Given the description of an element on the screen output the (x, y) to click on. 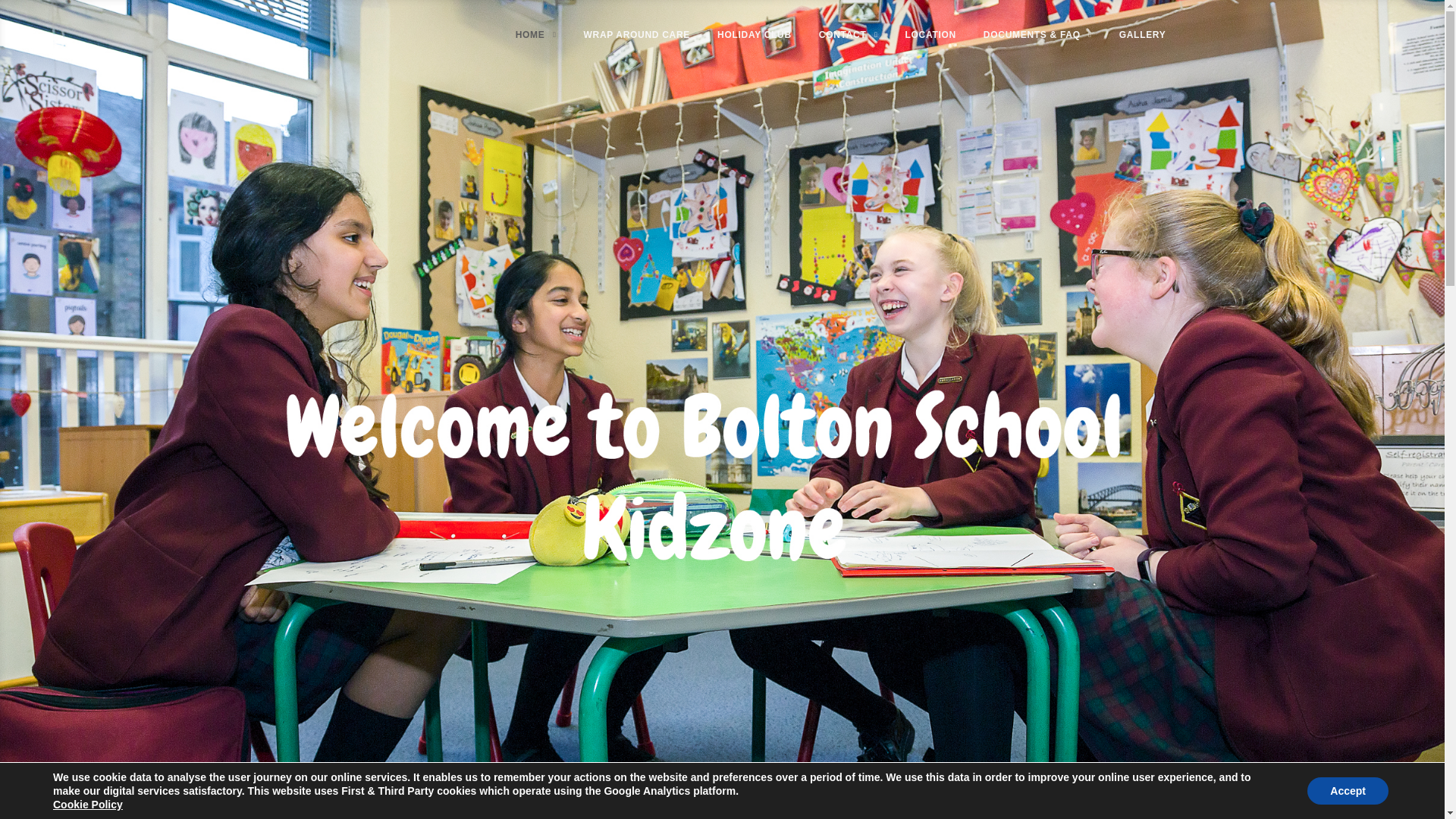
GALLERY (1142, 34)
LOCATION (929, 34)
HOLIDAY CLUB (754, 34)
CONTACT (847, 34)
WRAP AROUND CARE (636, 34)
HOME (535, 34)
